Given the description of an element on the screen output the (x, y) to click on. 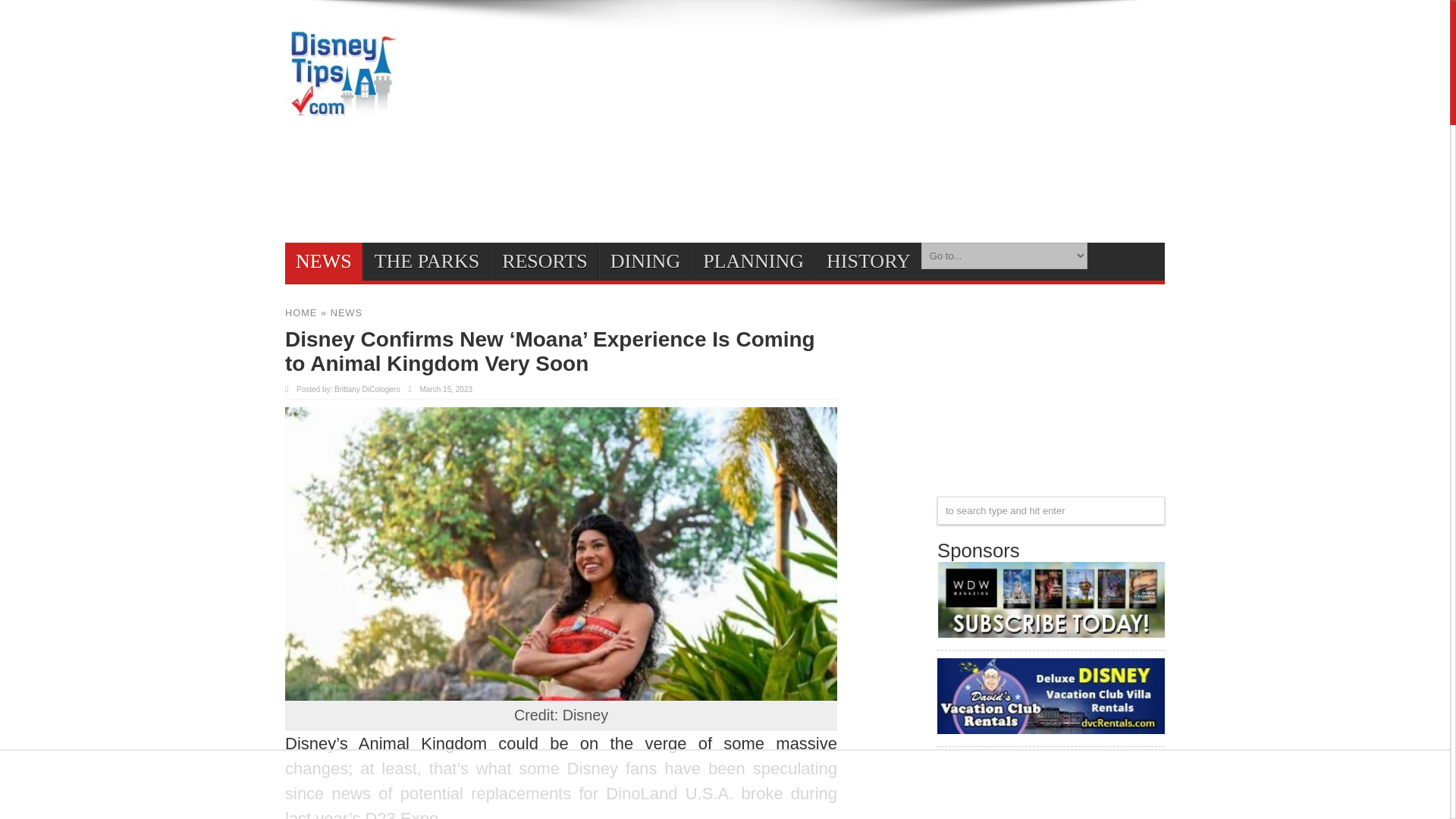
RESORTS (544, 261)
HISTORY (868, 261)
THE PARKS (425, 261)
DINING (644, 261)
Brittany DiCologero (367, 388)
PLANNING (752, 261)
DisneyTips.com (341, 121)
HOME (301, 312)
NEWS (323, 261)
NEWS (346, 312)
WDW Magazine (1050, 631)
to search type and hit enter (1050, 510)
WDW Magazine (1050, 599)
